Given the description of an element on the screen output the (x, y) to click on. 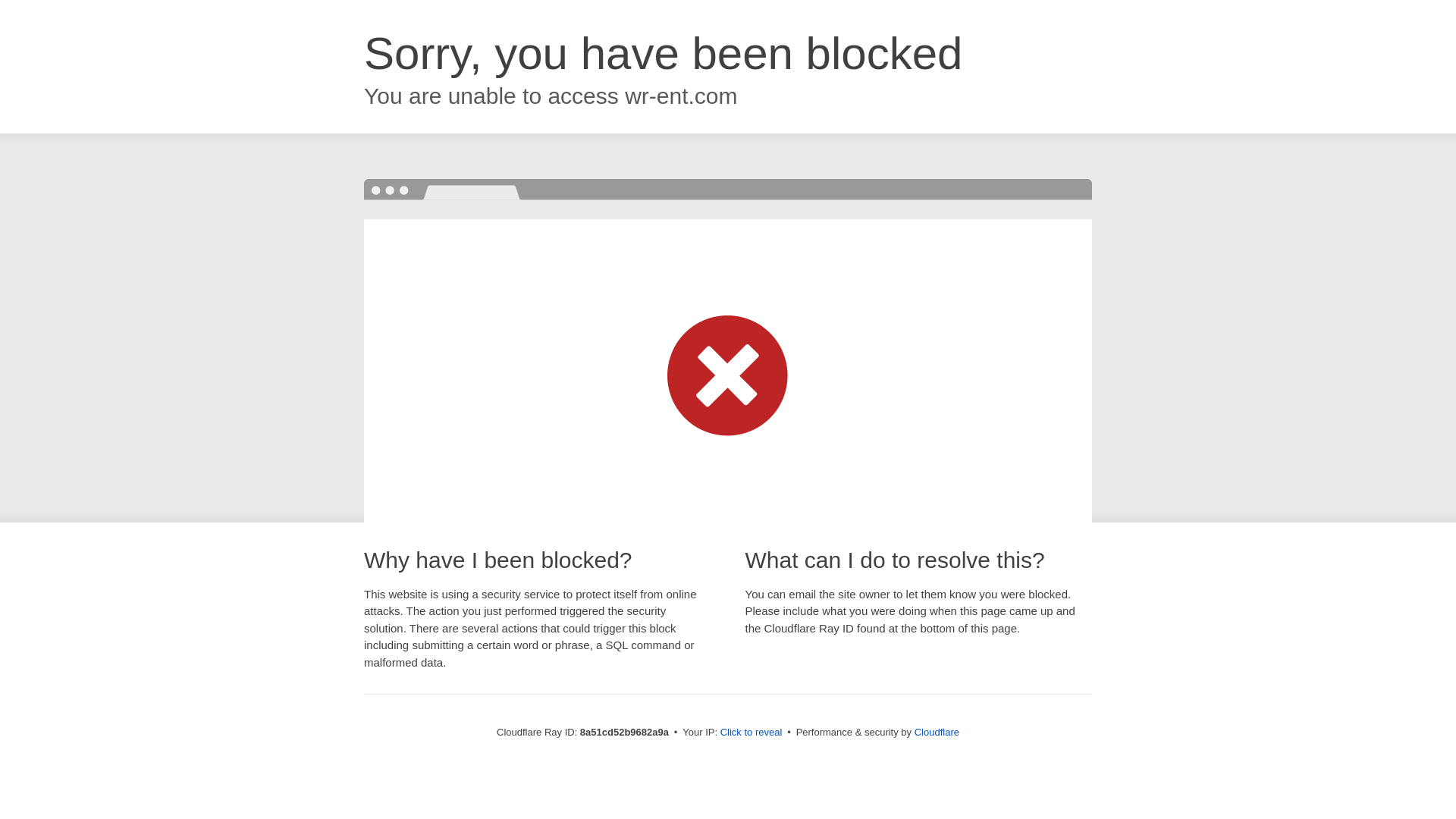
Click to reveal (751, 732)
Cloudflare (936, 731)
